Given the description of an element on the screen output the (x, y) to click on. 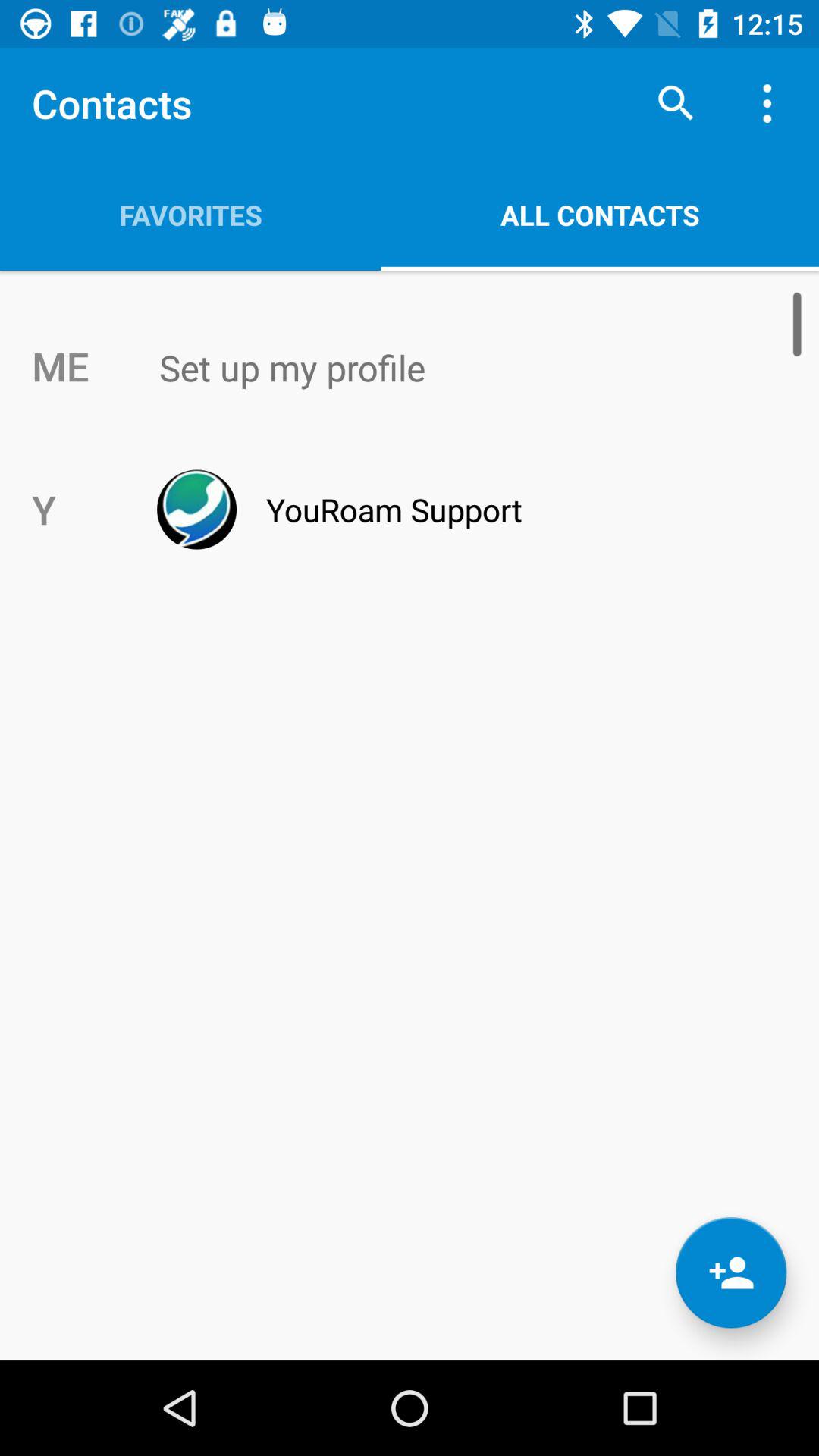
tap the icon to the right of the me (441, 367)
